Given the description of an element on the screen output the (x, y) to click on. 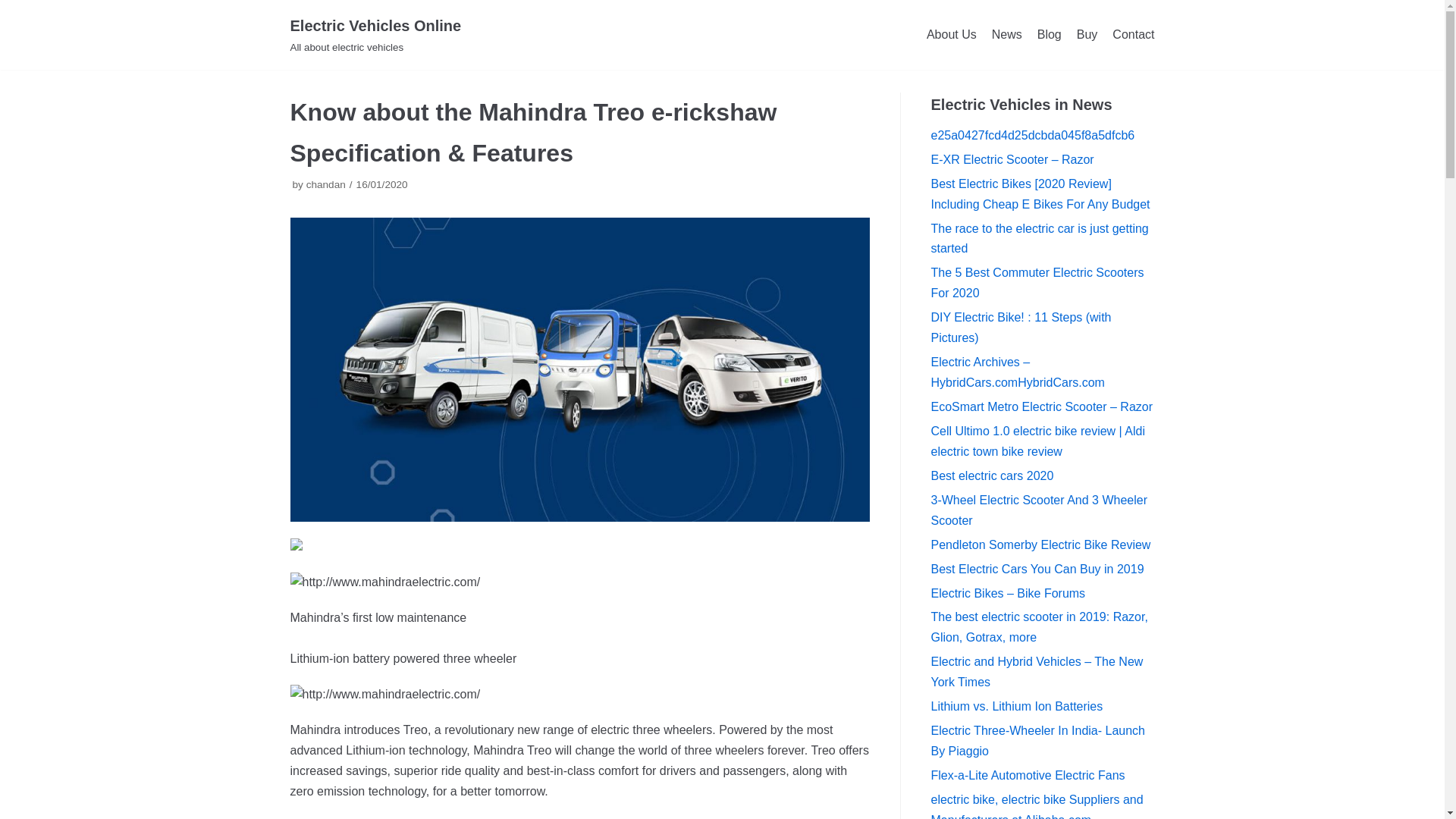
e25a0427fcd4d25dcbda045f8a5dfcb6 (1033, 134)
About Us (951, 35)
Skip to content (15, 7)
Posts by chandan (325, 184)
Blog (1048, 35)
Electric Vehicles Online (375, 34)
News (375, 34)
3-Wheel Electric Scooter And 3 Wheeler Scooter (1006, 35)
The race to the electric car is just getting started (1039, 510)
